Given the description of an element on the screen output the (x, y) to click on. 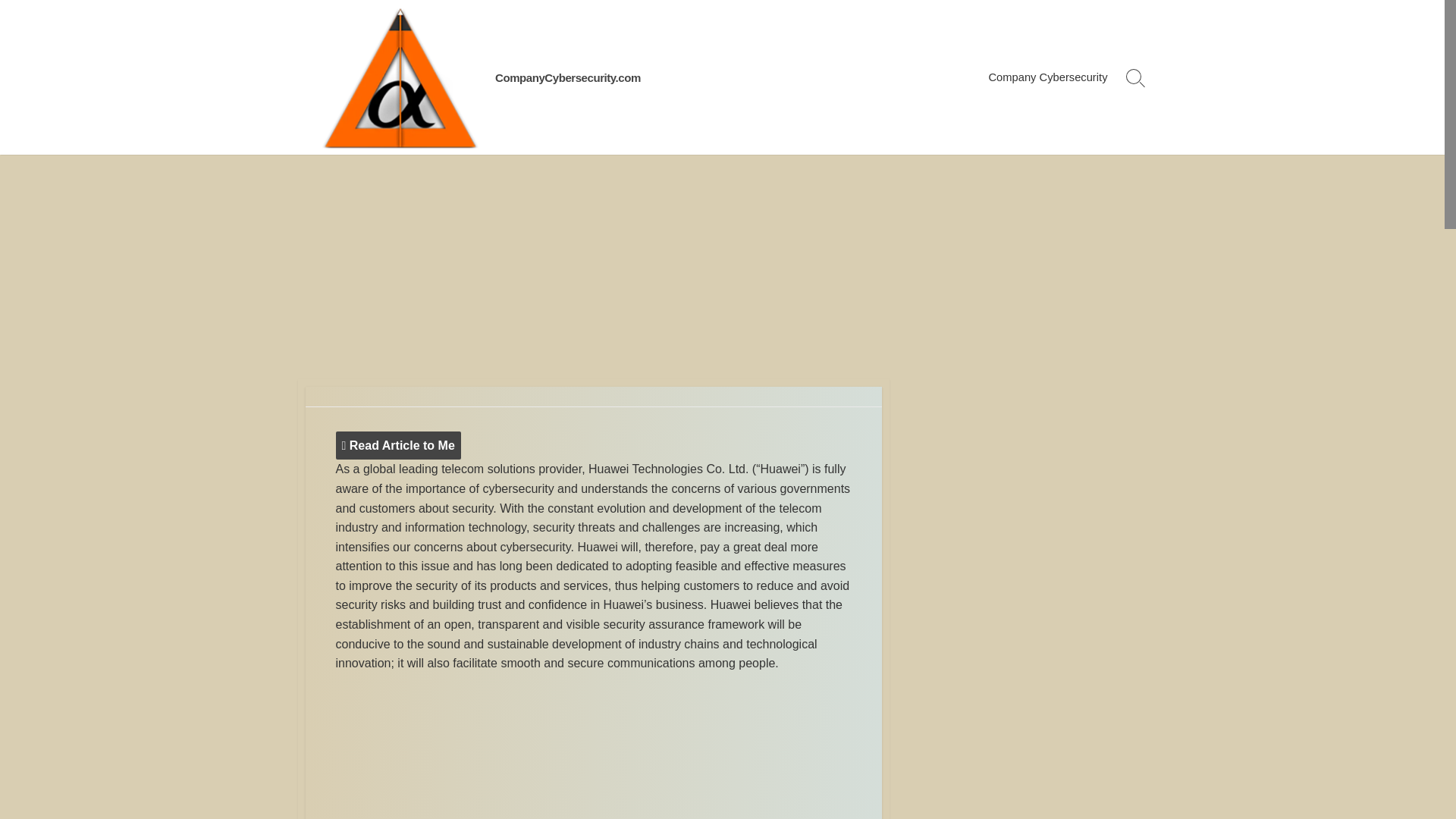
CompanyCybersecurity.com (567, 77)
Company Cybersecurity (1047, 77)
CompanyCybersecurity.com (399, 77)
Advertisement (592, 749)
CompanyCybersecurity.com (567, 77)
